Given the description of an element on the screen output the (x, y) to click on. 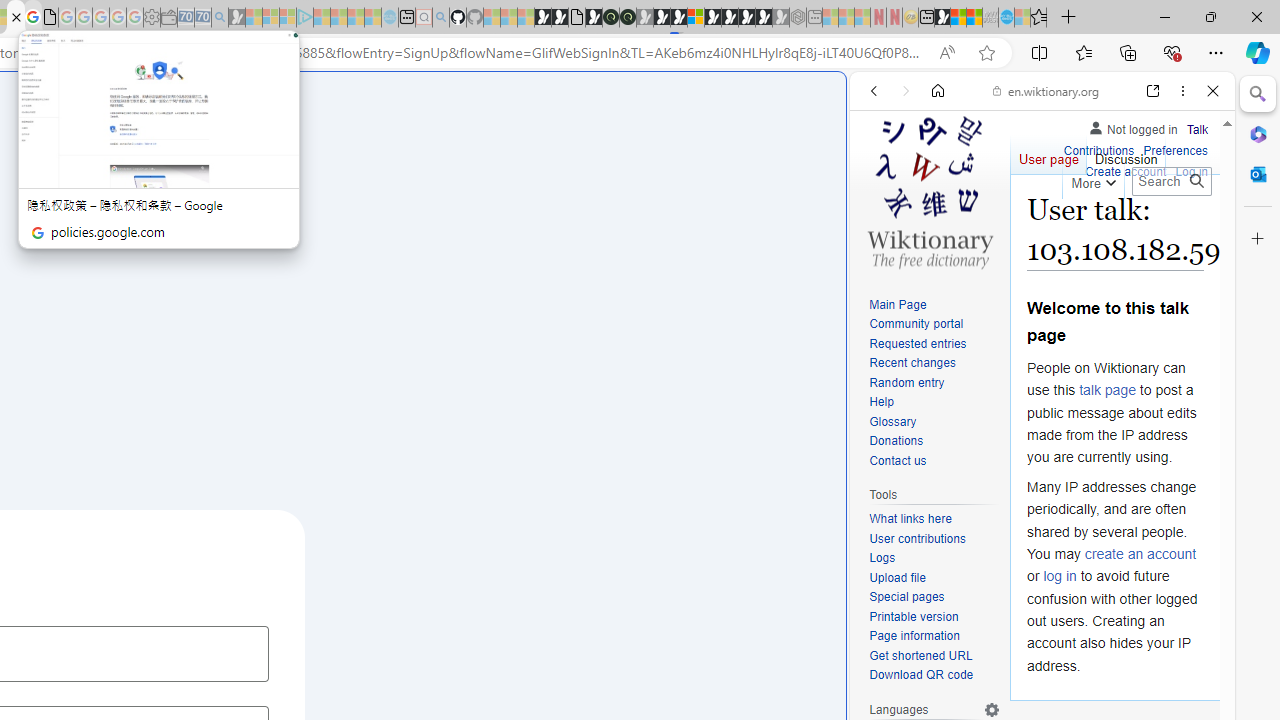
Tabs you've opened (276, 265)
Glossary (892, 421)
Special pages (934, 597)
Upload file (897, 577)
Search or enter web address (343, 191)
Requested entries (917, 343)
